Given the description of an element on the screen output the (x, y) to click on. 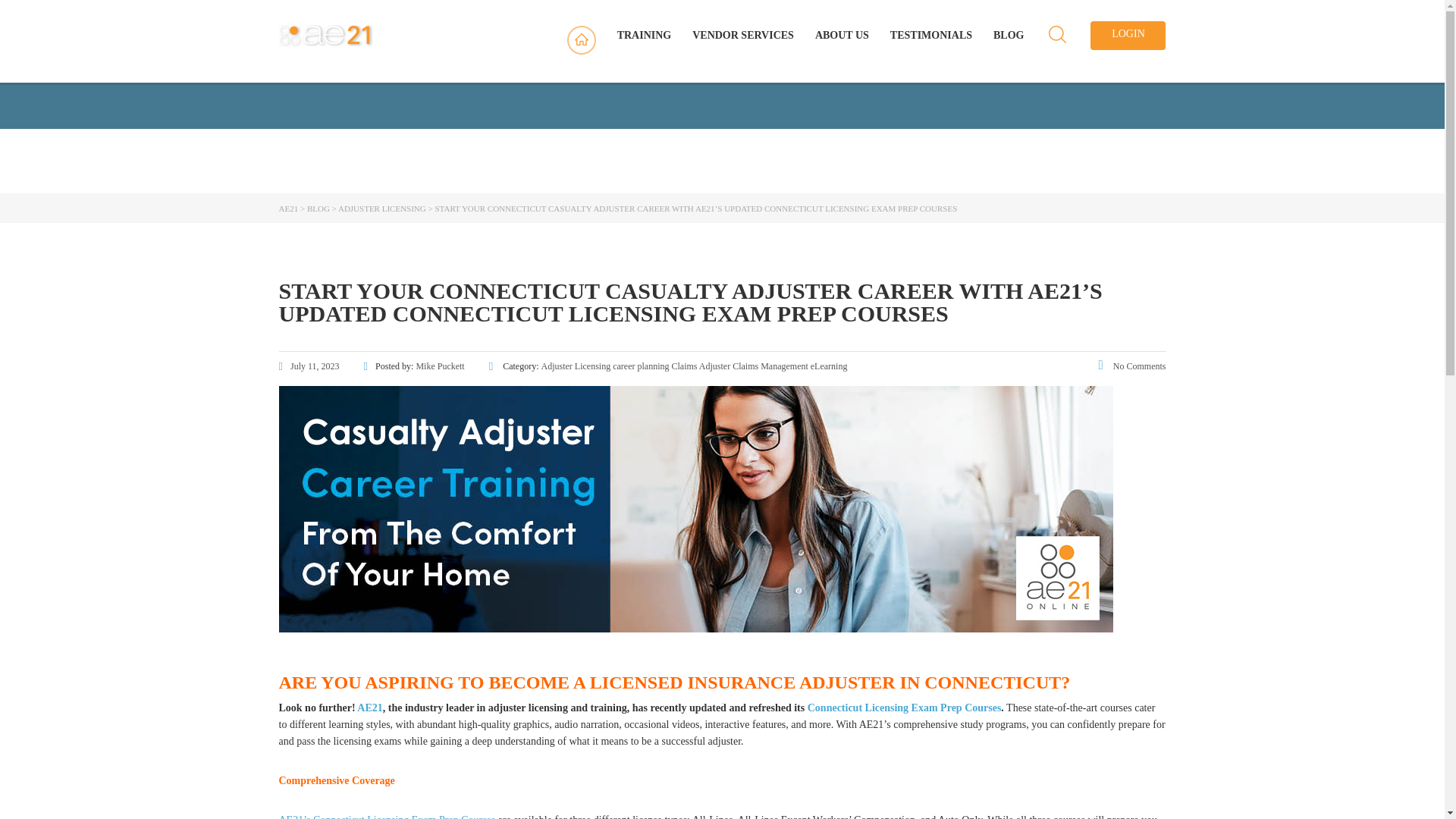
Go to the Adjuster Licensing Category archives. (381, 207)
LOGIN (1128, 35)
BLOG (1007, 35)
eLearning (828, 366)
Connecticut Licensing Exam Prep Courses (904, 707)
Go to AE21. (288, 207)
VENDOR SERVICES (743, 35)
career planning (640, 366)
No Comments (1132, 366)
Claims Adjuster (700, 366)
Claims Management (770, 366)
Adjuster Licensing (576, 366)
AE21 (368, 707)
TESTIMONIALS (930, 35)
AE21 (288, 207)
